Given the description of an element on the screen output the (x, y) to click on. 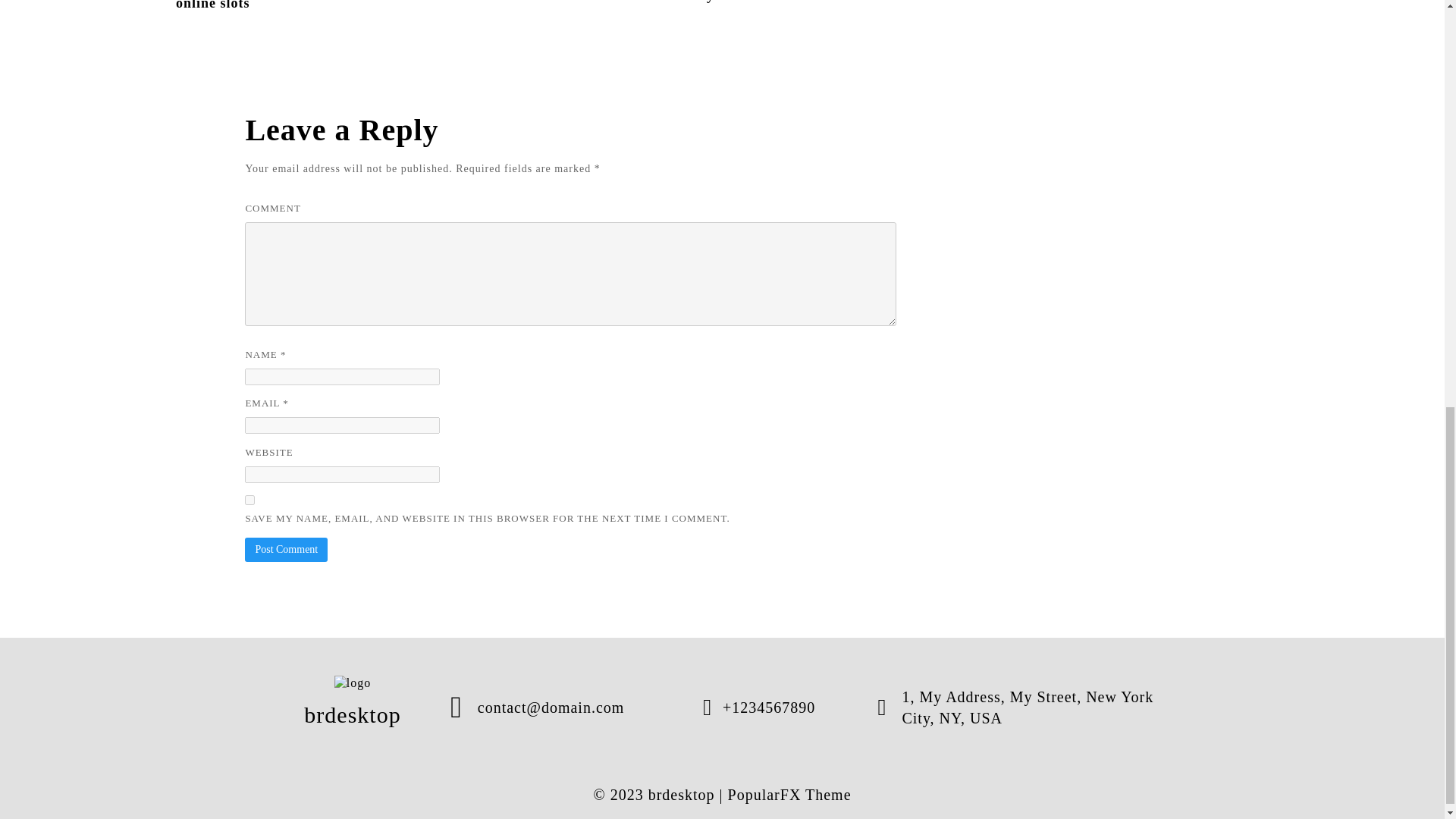
logo (352, 682)
Post Comment (285, 549)
Post Comment (285, 549)
PopularFX Theme (789, 794)
yes (249, 500)
brdesktop (832, 2)
